Given the description of an element on the screen output the (x, y) to click on. 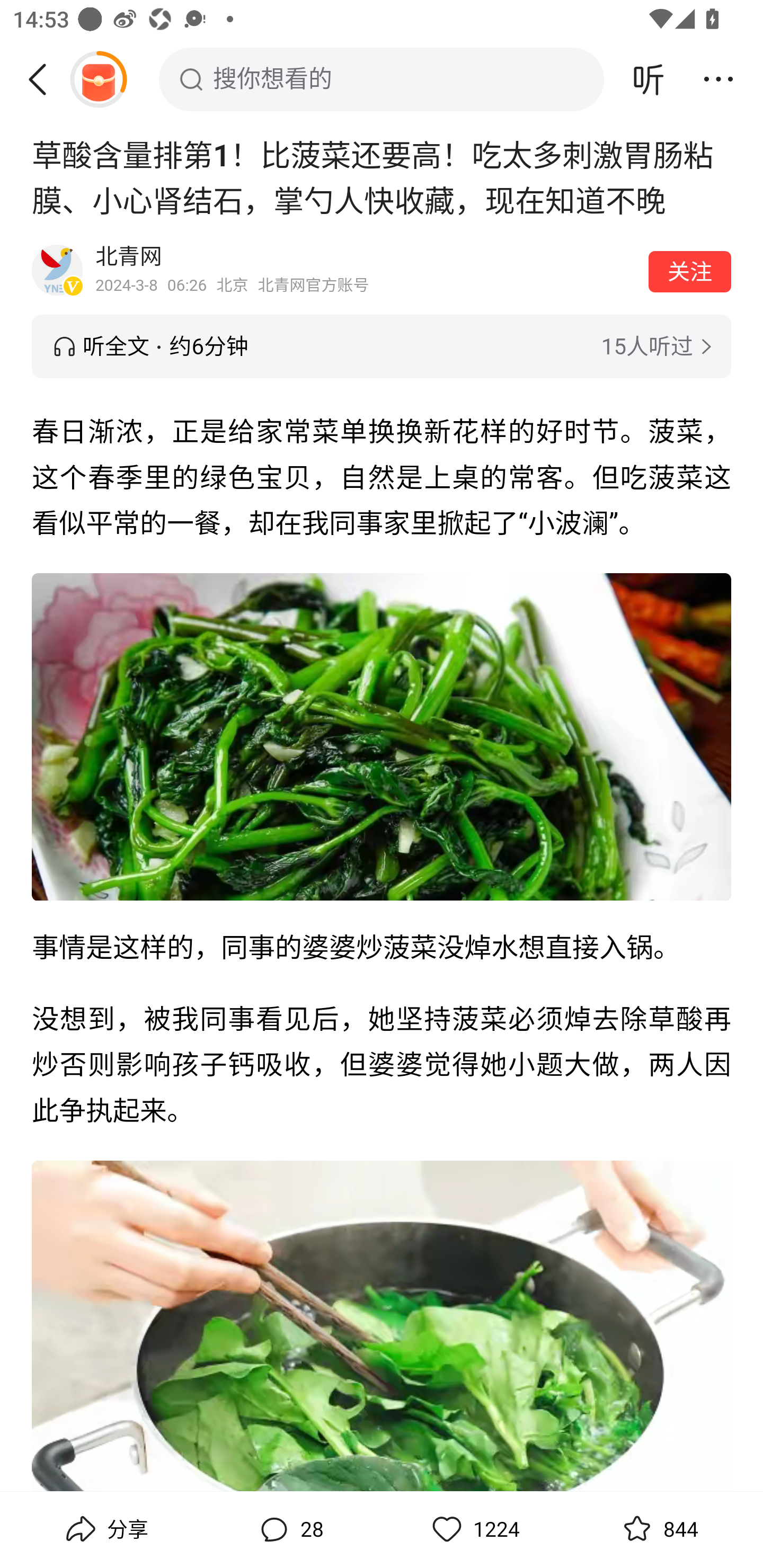
返回 (44, 78)
听头条 (648, 78)
更多操作 (718, 78)
搜你想看的 搜索框，搜你想看的 (381, 79)
阅读赚金币 (98, 79)
作者：北青网，简介：北青网官方账号，2024-3-8 06:26发布，北京 (365, 270)
关注作者 (689, 270)
听全文 约6分钟 15人听过 (381, 346)
图片，点击识别内容 (381, 736)
图片，点击识别内容 (381, 1326)
分享 (104, 1529)
评论,28 28 (288, 1529)
收藏,844 844 (658, 1529)
